Given the description of an element on the screen output the (x, y) to click on. 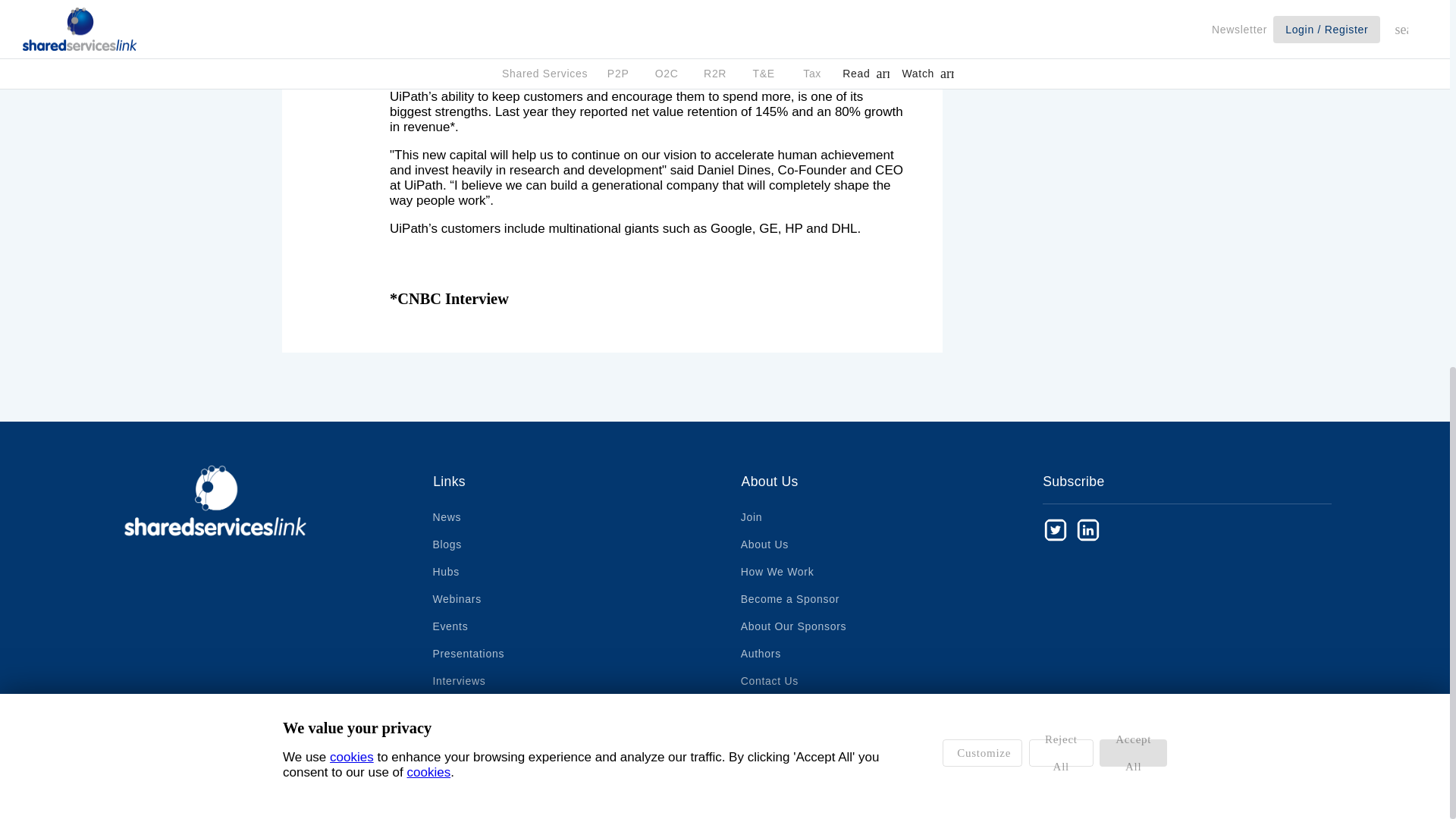
News (450, 516)
Blogs (450, 543)
Hubs (450, 571)
Webinars (456, 598)
